Given the description of an element on the screen output the (x, y) to click on. 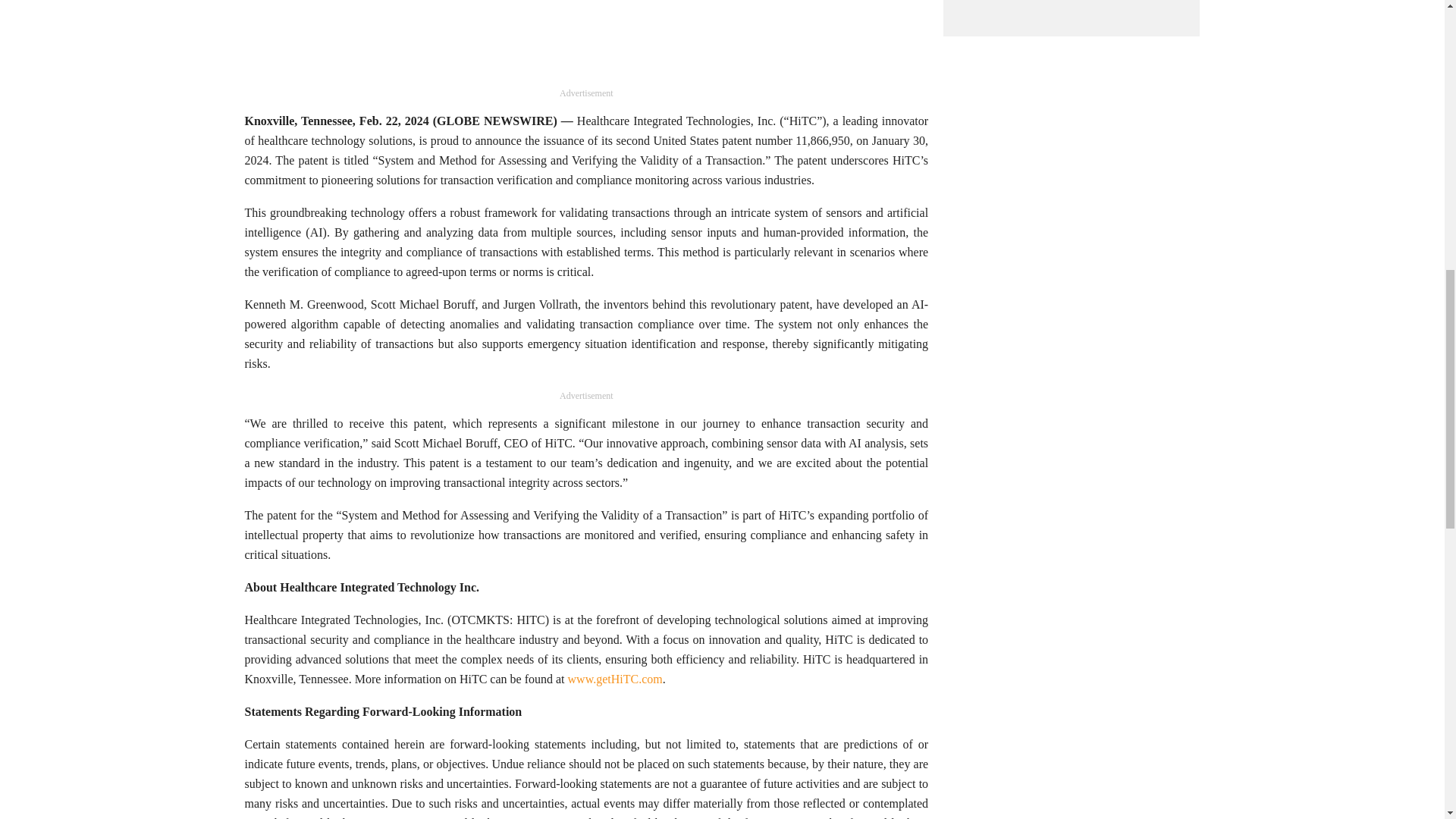
www.getHiTC.com (614, 678)
Advertisement (586, 42)
